Given the description of an element on the screen output the (x, y) to click on. 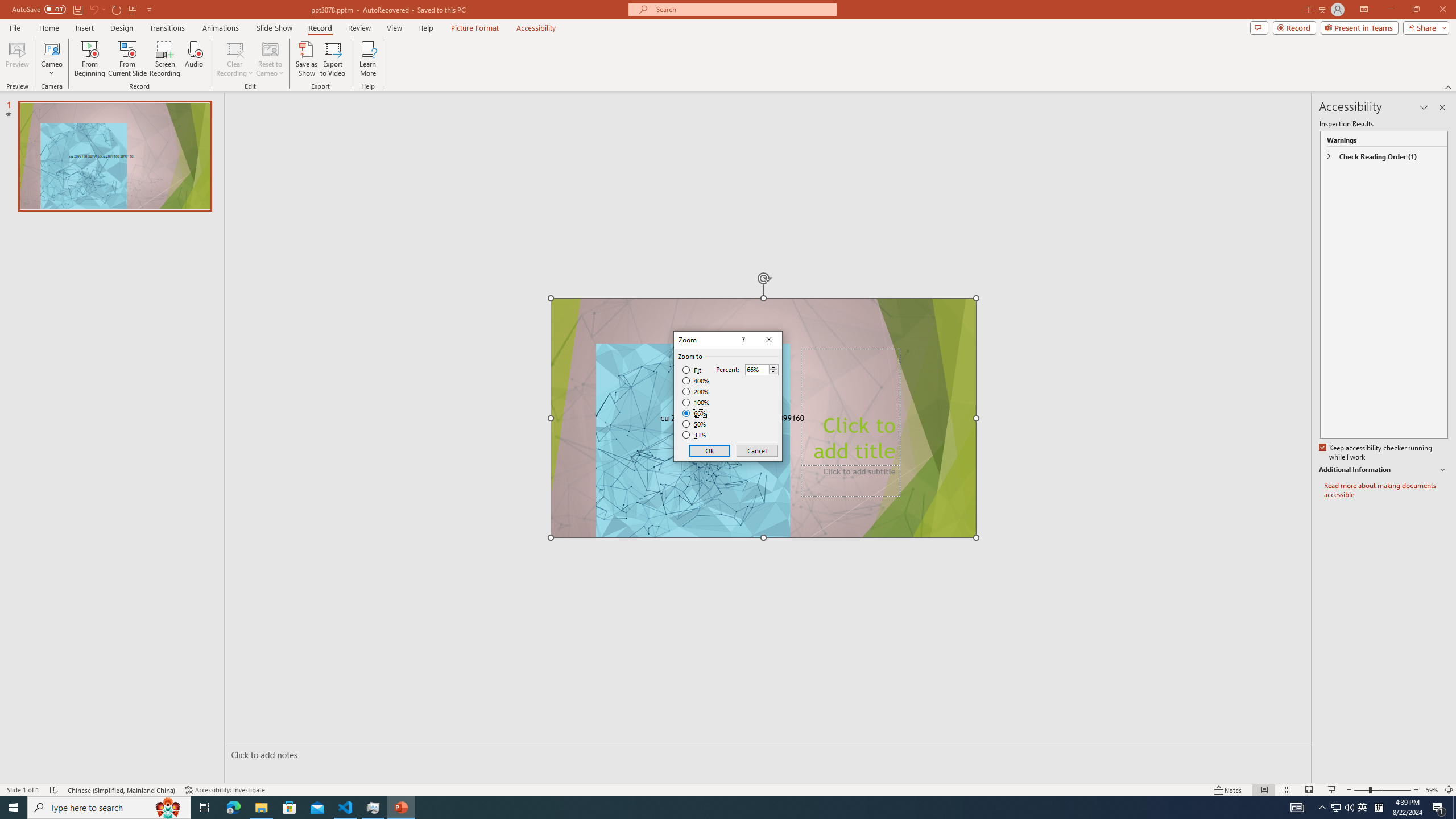
Percent (756, 369)
Cameo (51, 48)
Export to Video (332, 58)
PowerPoint - 1 running window (1335, 807)
Cameo (400, 807)
Microsoft Store (51, 58)
